Given the description of an element on the screen output the (x, y) to click on. 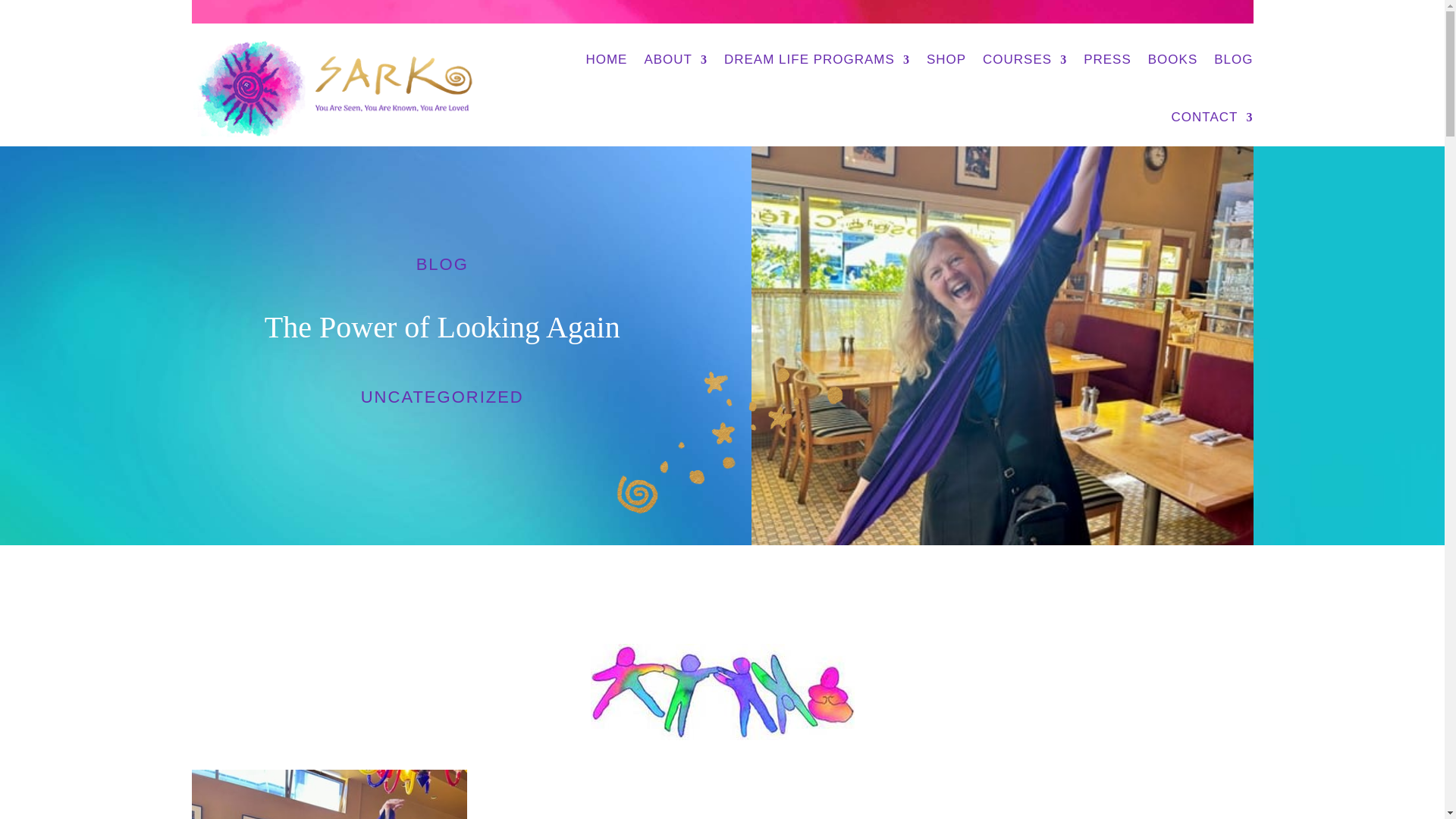
CONTACT (1212, 117)
ABOUT (675, 59)
DREAM LIFE PROGRAMS (816, 59)
COURSES (1024, 59)
UNCATEGORIZED (442, 396)
